Given the description of an element on the screen output the (x, y) to click on. 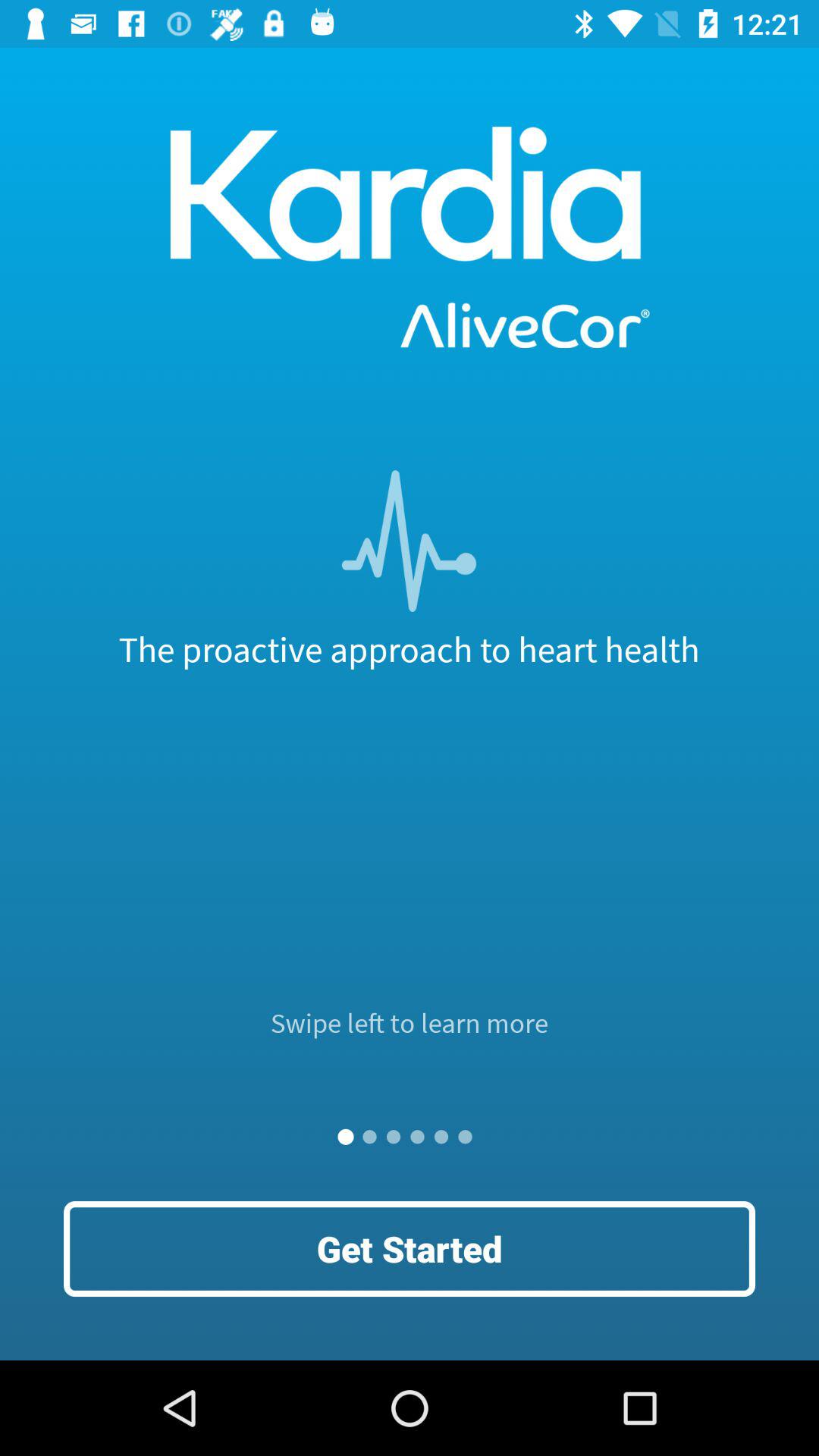
select the get started icon (409, 1248)
